Given the description of an element on the screen output the (x, y) to click on. 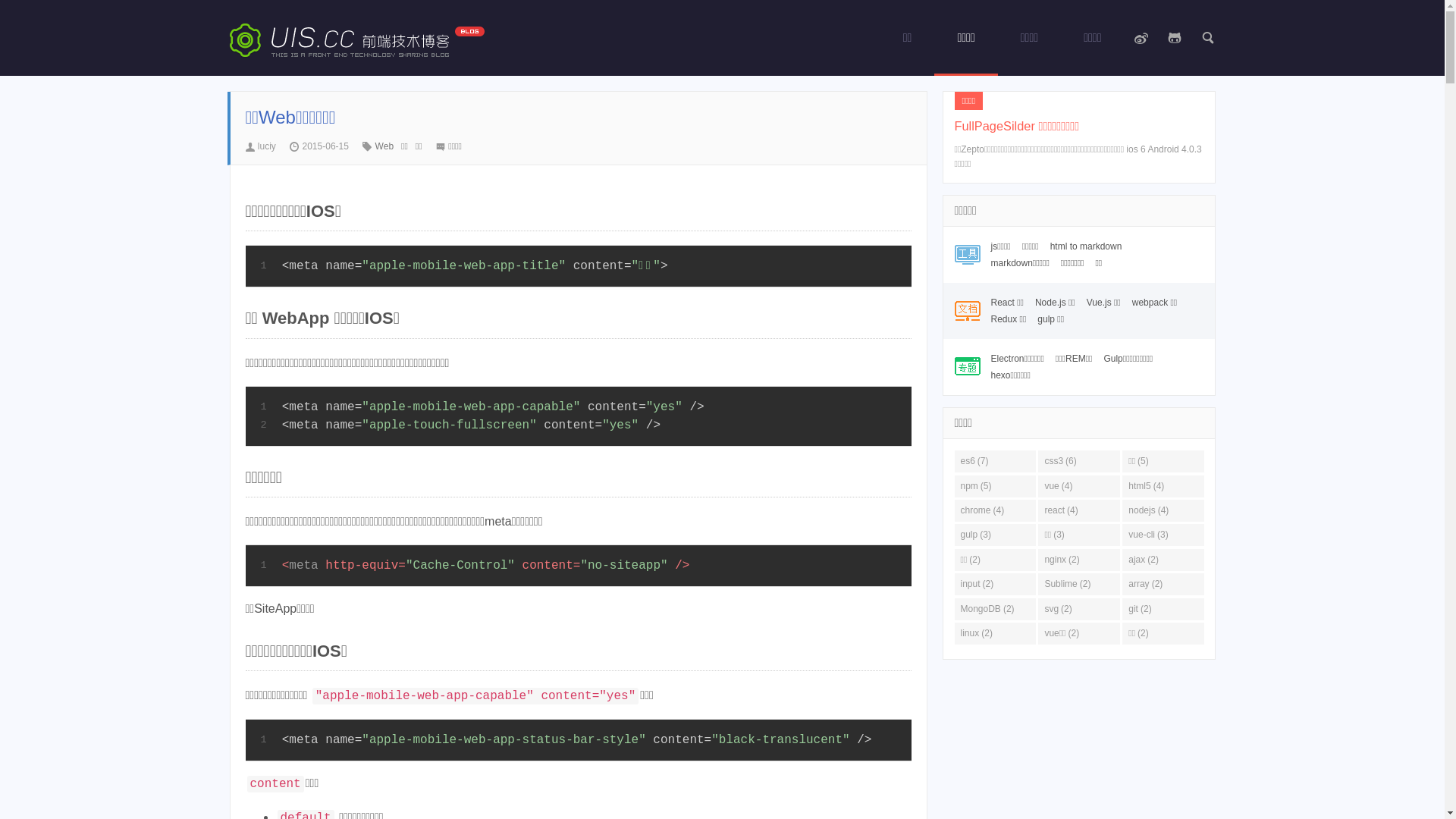
vue4 Element type: text (1078, 486)
Sublime2 Element type: text (1078, 584)
react4 Element type: text (1078, 510)
html54 Element type: text (1162, 486)
input2 Element type: text (994, 584)
nginx2 Element type: text (1078, 560)
ajax2 Element type: text (1162, 560)
Web Element type: text (388, 146)
linux2 Element type: text (994, 633)
chrome4 Element type: text (994, 510)
MongoDB2 Element type: text (994, 609)
git2 Element type: text (1162, 609)
es67 Element type: text (994, 461)
vue-cli3 Element type: text (1162, 535)
html to markdown Element type: text (1086, 246)
nodejs4 Element type: text (1162, 510)
svg2 Element type: text (1078, 609)
array2 Element type: text (1162, 584)
npm5 Element type: text (994, 486)
css36 Element type: text (1078, 461)
gulp3 Element type: text (994, 535)
